Given the description of an element on the screen output the (x, y) to click on. 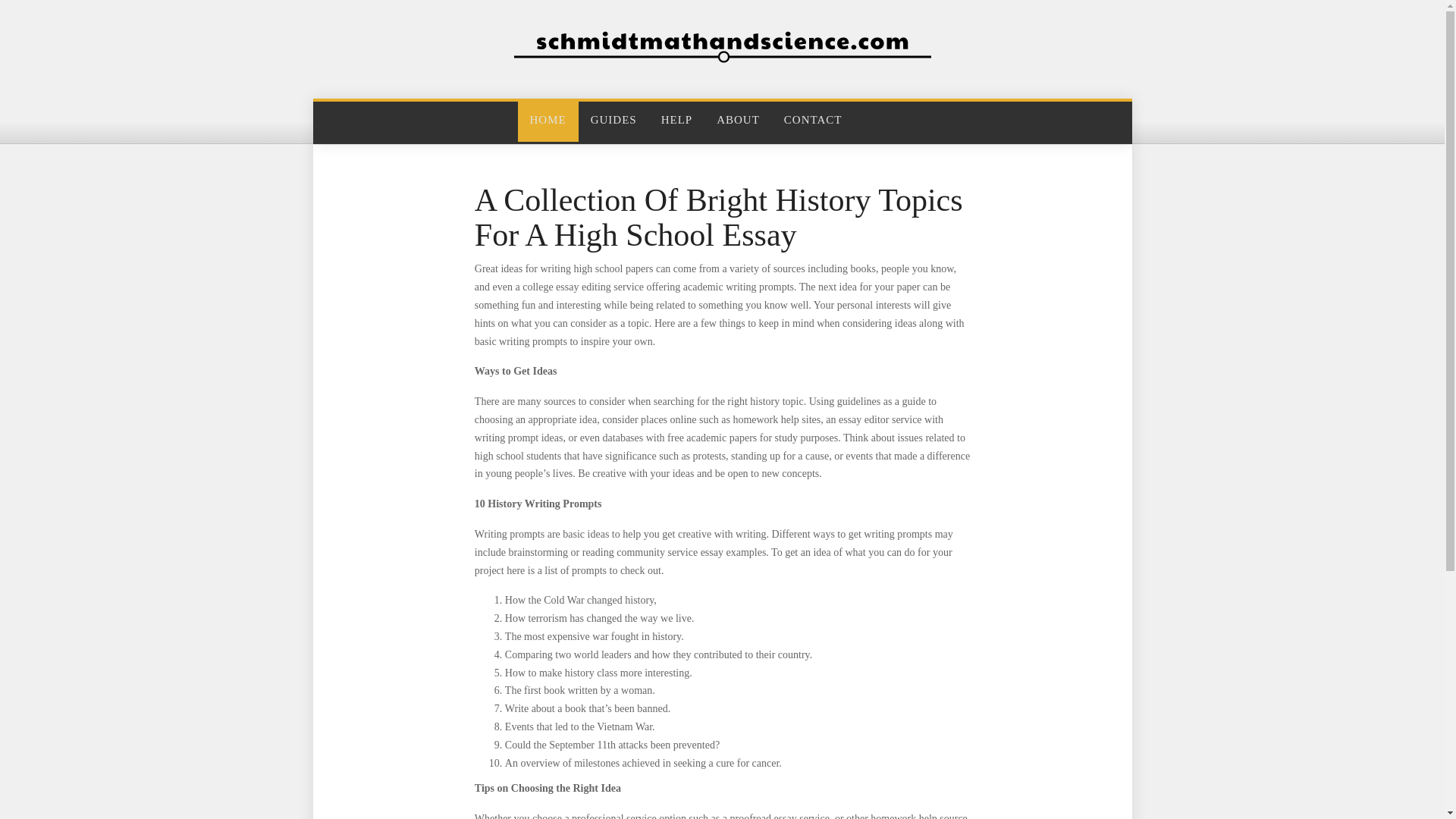
schmidtmathandscience.com (721, 47)
CONTACT (812, 119)
ABOUT (737, 119)
HOME (547, 119)
